Given the description of an element on the screen output the (x, y) to click on. 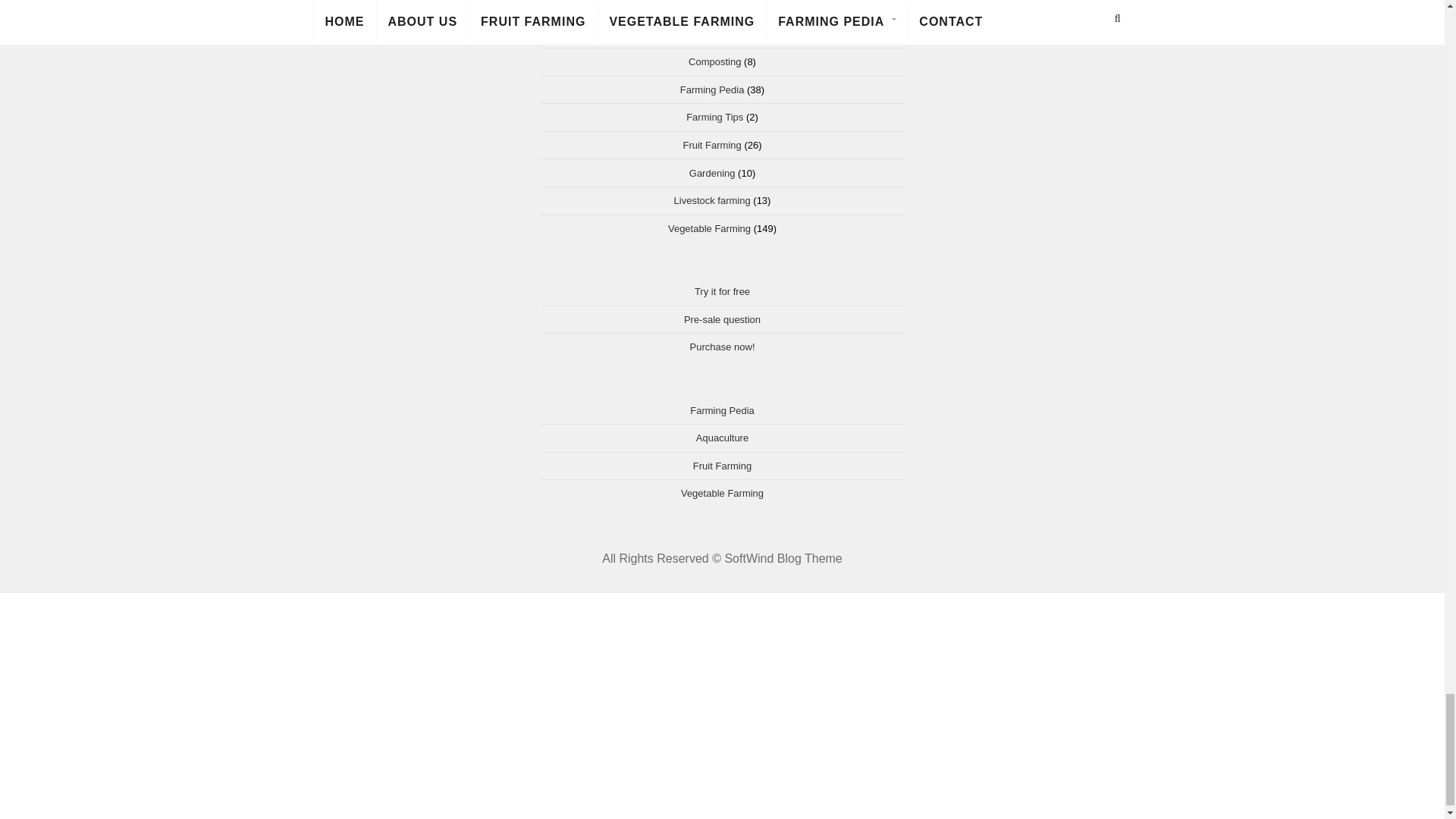
Gardening (711, 173)
Aquaculture (714, 34)
Composting (714, 61)
Livestock farming (712, 200)
Fruit Farming (711, 144)
Farming Pedia (711, 89)
Farming Tips (713, 116)
